Given the description of an element on the screen output the (x, y) to click on. 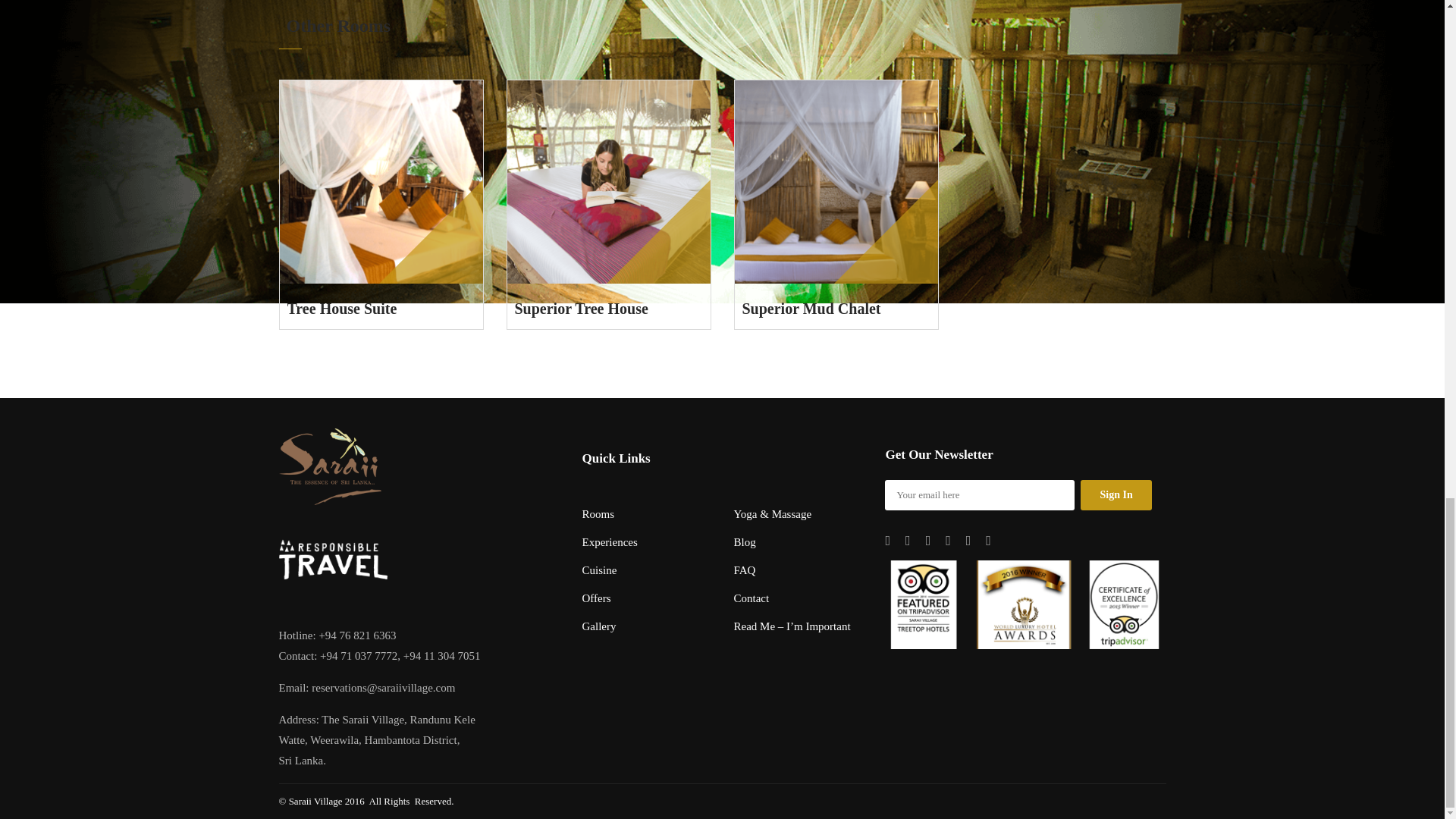
Sign In (1115, 494)
